Given the description of an element on the screen output the (x, y) to click on. 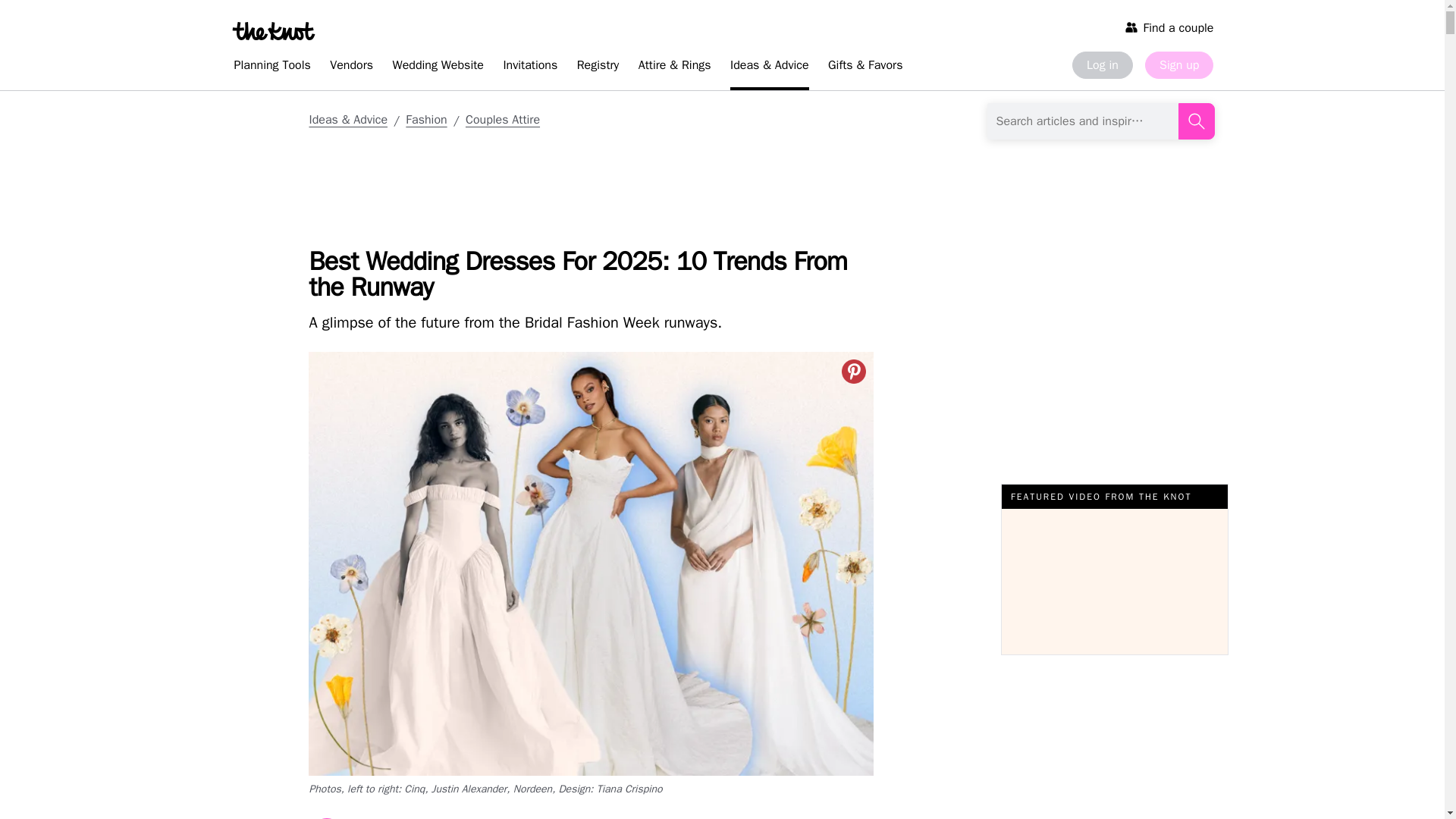
Vendors (350, 67)
Log in (1101, 64)
Registry (598, 67)
Invitations (529, 67)
Wedding Website (438, 67)
Planning Tools (271, 67)
Sign up (1178, 64)
Find a couple (1169, 27)
